Given the description of an element on the screen output the (x, y) to click on. 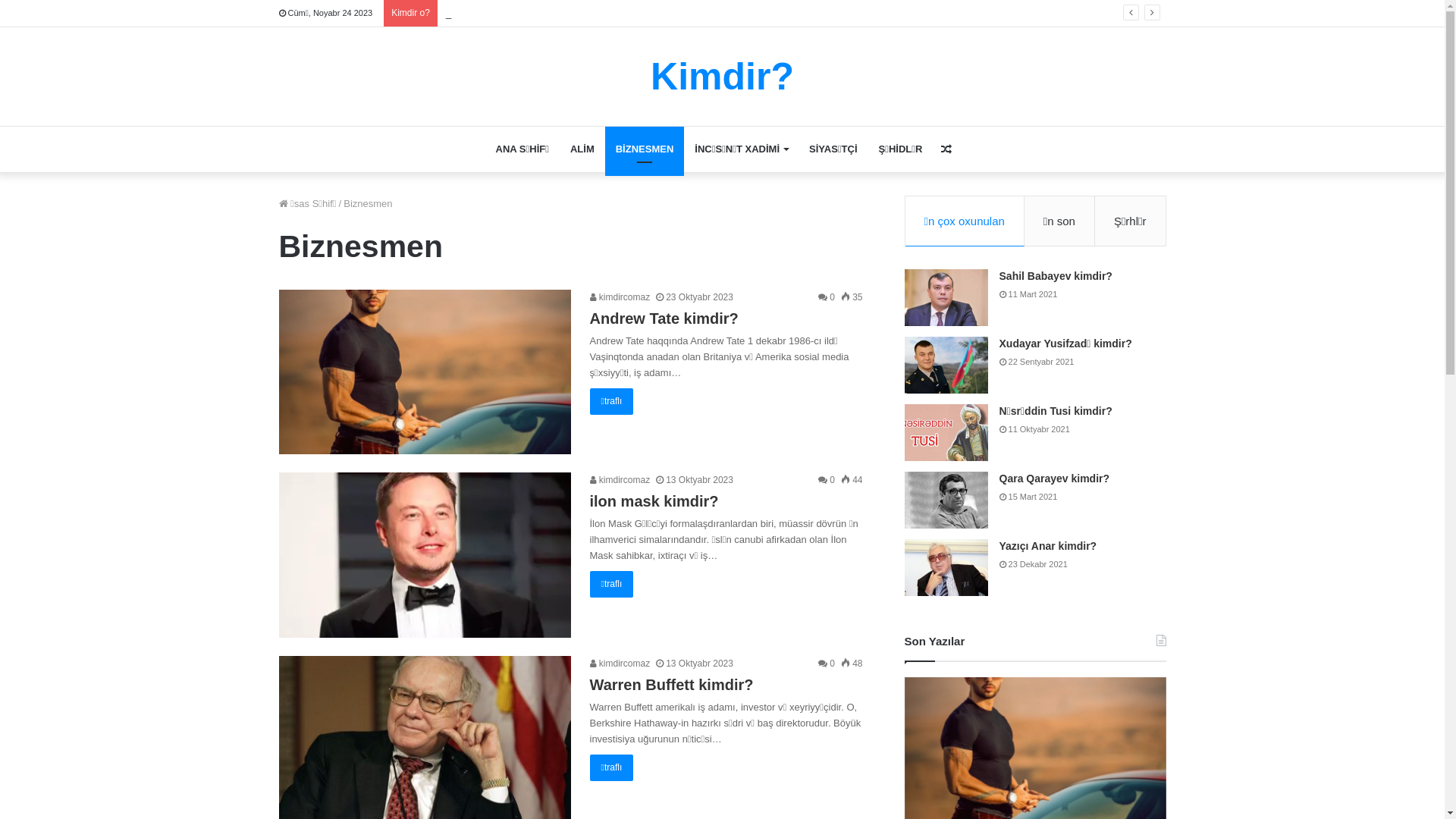
Jim Carrey kimdir? Element type: text (486, 12)
kimdircomaz Element type: text (619, 663)
Kimdir? Element type: text (721, 76)
ilon mask kimdir? 2 Element type: hover (425, 554)
Qara Qarayev kimdir? 8 Element type: hover (946, 499)
Qara Qarayev kimdir? Element type: text (1054, 478)
Warren Buffett kimdir? Element type: text (671, 684)
Andrew Tate kimdir? 1 Element type: hover (425, 371)
ilon mask kimdir? Element type: text (653, 500)
Sahil Babayev kimdir? 5 Element type: hover (946, 297)
kimdircomaz Element type: text (619, 479)
kimdircomaz Element type: text (619, 296)
Andrew Tate kimdir? Element type: text (663, 318)
Random Article Element type: text (945, 149)
Sahil Babayev kimdir? Element type: text (1055, 275)
ALIM Element type: text (582, 149)
BIZNESMEN Element type: text (644, 149)
